Given the description of an element on the screen output the (x, y) to click on. 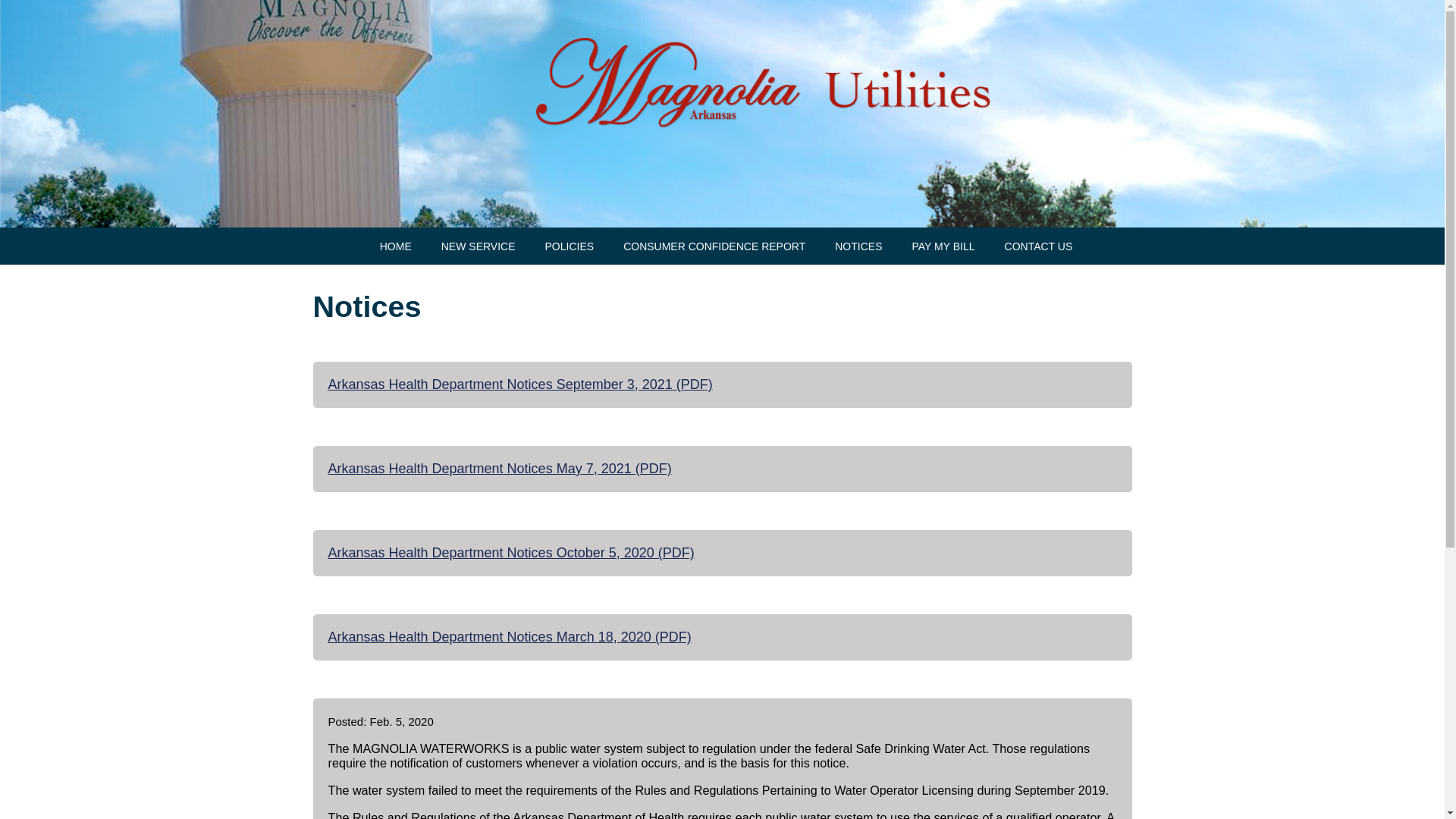
POLICIES (569, 246)
PAY MY BILL (943, 246)
NOTICES (857, 246)
NEW SERVICE (478, 246)
HOME (395, 246)
CONSUMER CONFIDENCE REPORT (713, 246)
CONTACT US (1038, 246)
